Given the description of an element on the screen output the (x, y) to click on. 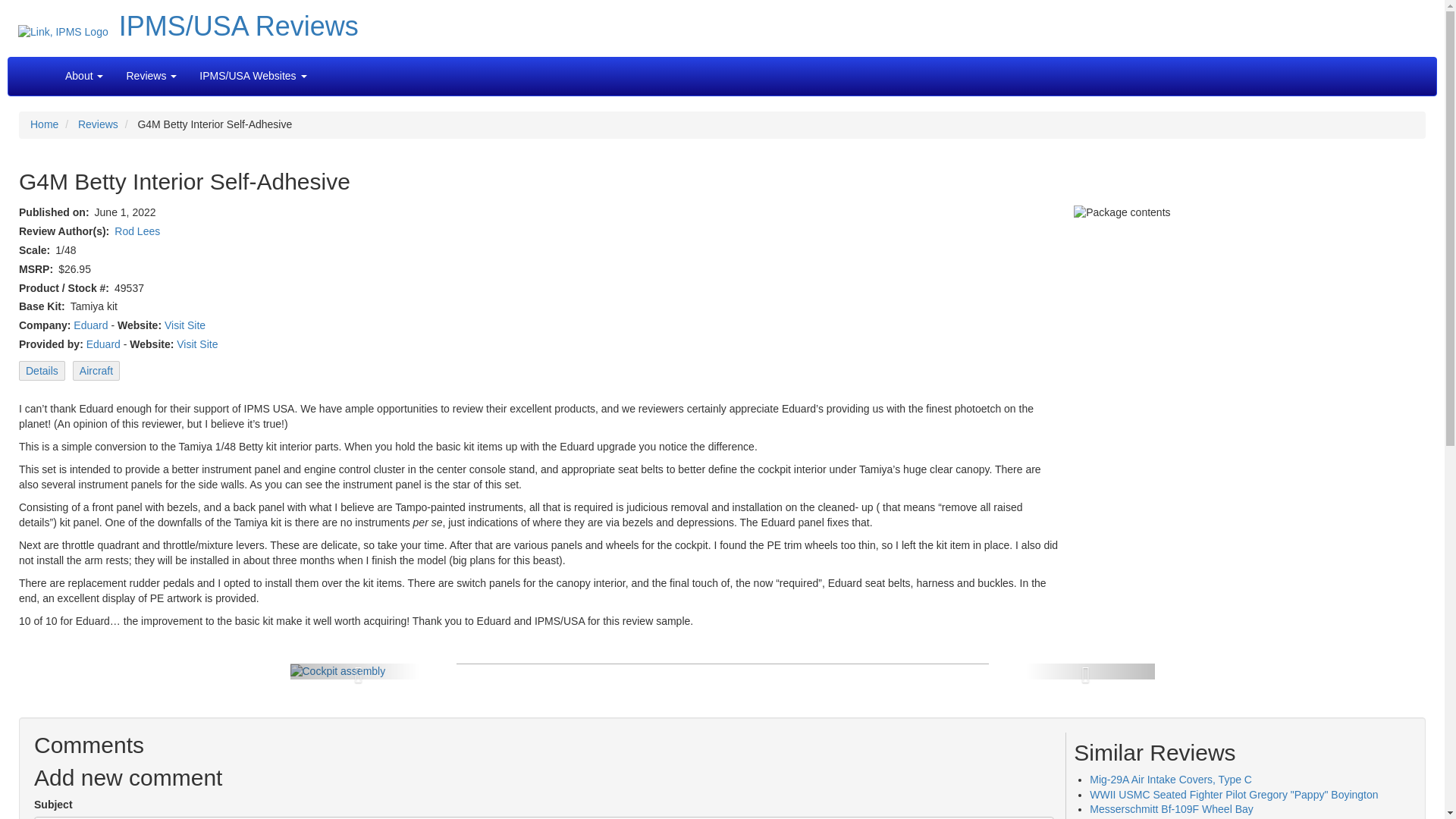
Details (41, 370)
Home (44, 123)
Cockpit assembly (337, 670)
Reviews (150, 76)
Aircraft (95, 370)
Eduard (102, 344)
Previous (354, 670)
Eduard (90, 325)
Reviews (97, 123)
